Given the description of an element on the screen output the (x, y) to click on. 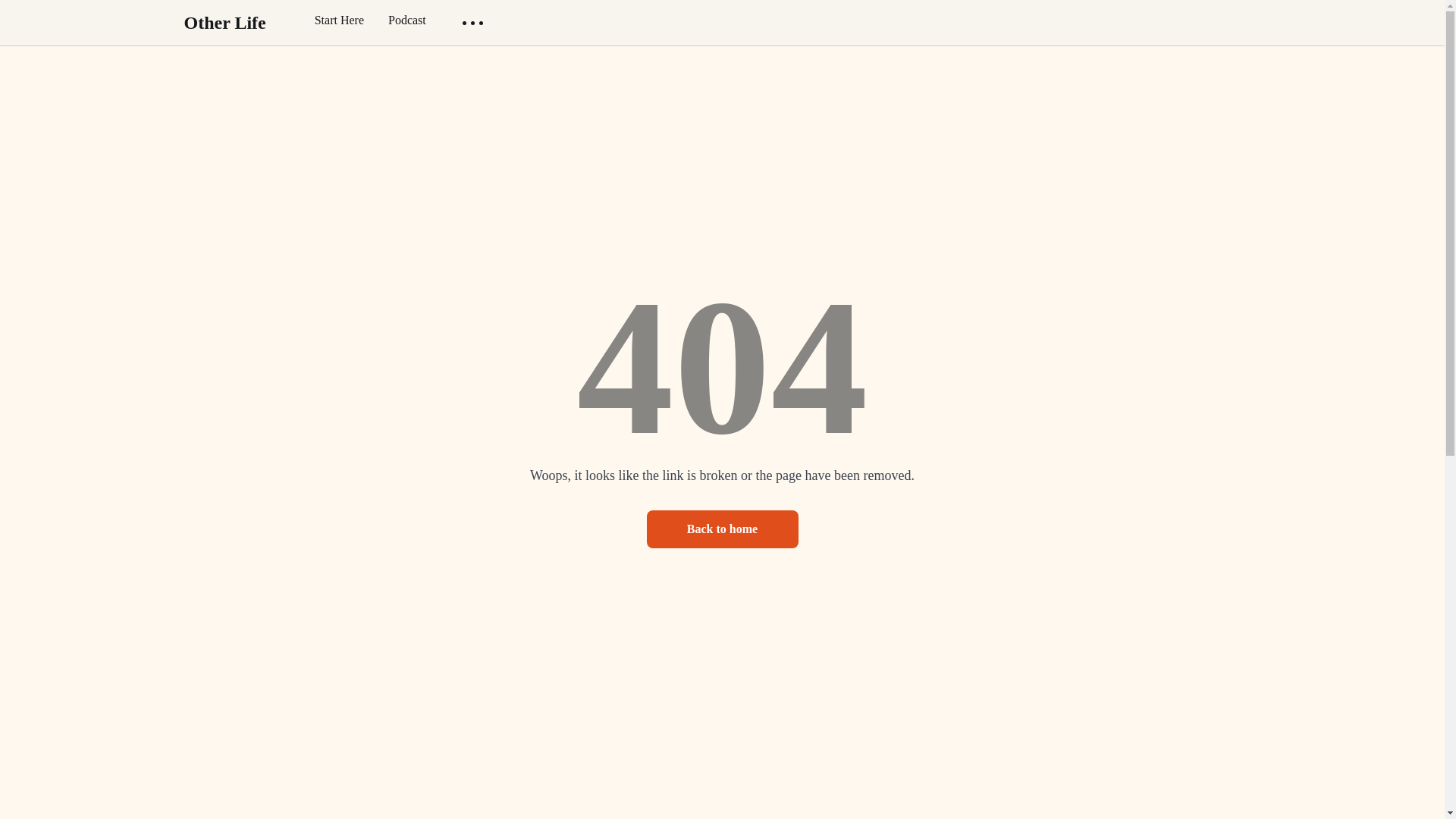
Start Here (339, 19)
Other Life (223, 23)
Back to home (721, 528)
Podcast (407, 19)
Other Life (223, 23)
